Given the description of an element on the screen output the (x, y) to click on. 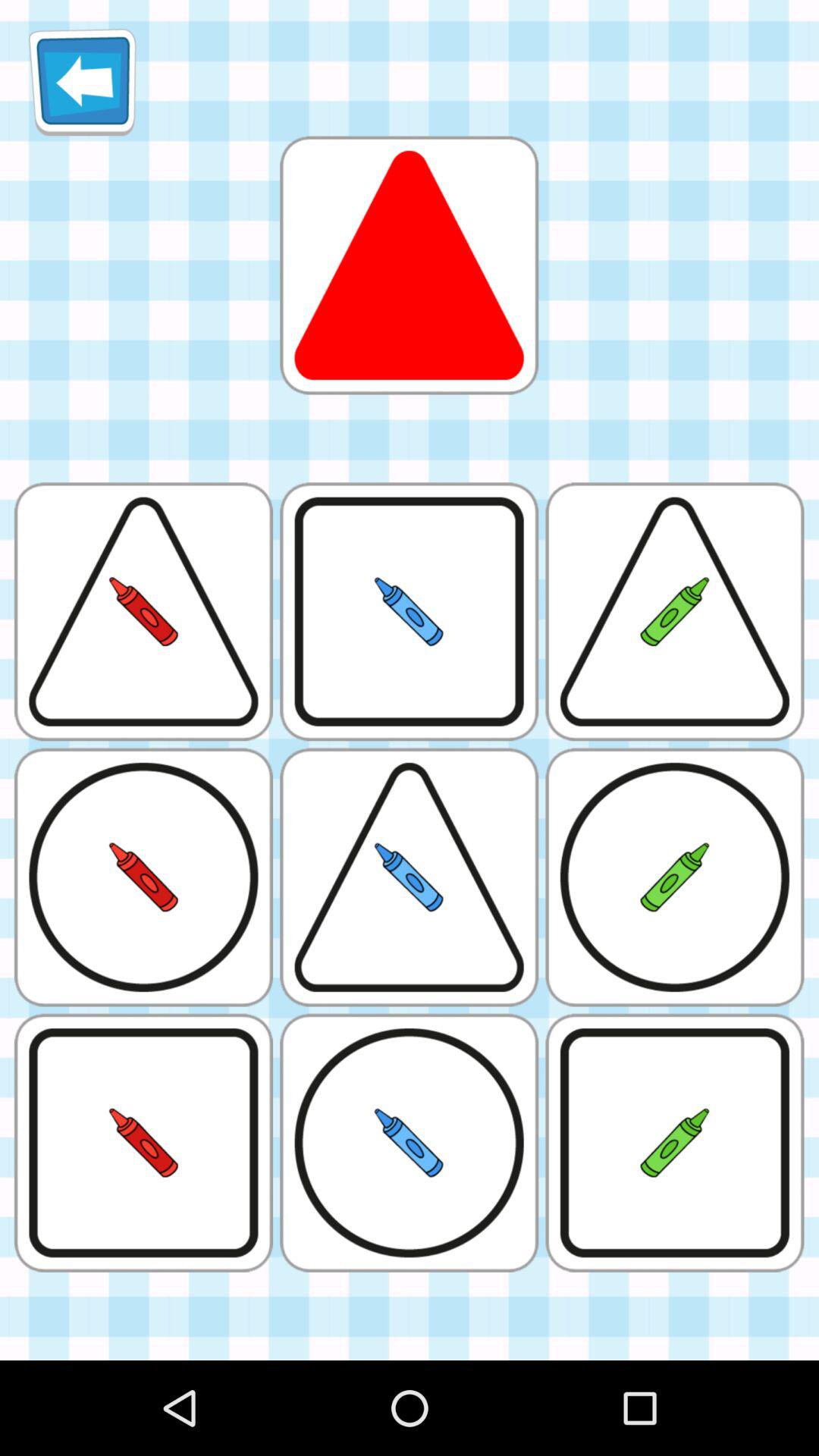
triangle (409, 265)
